Given the description of an element on the screen output the (x, y) to click on. 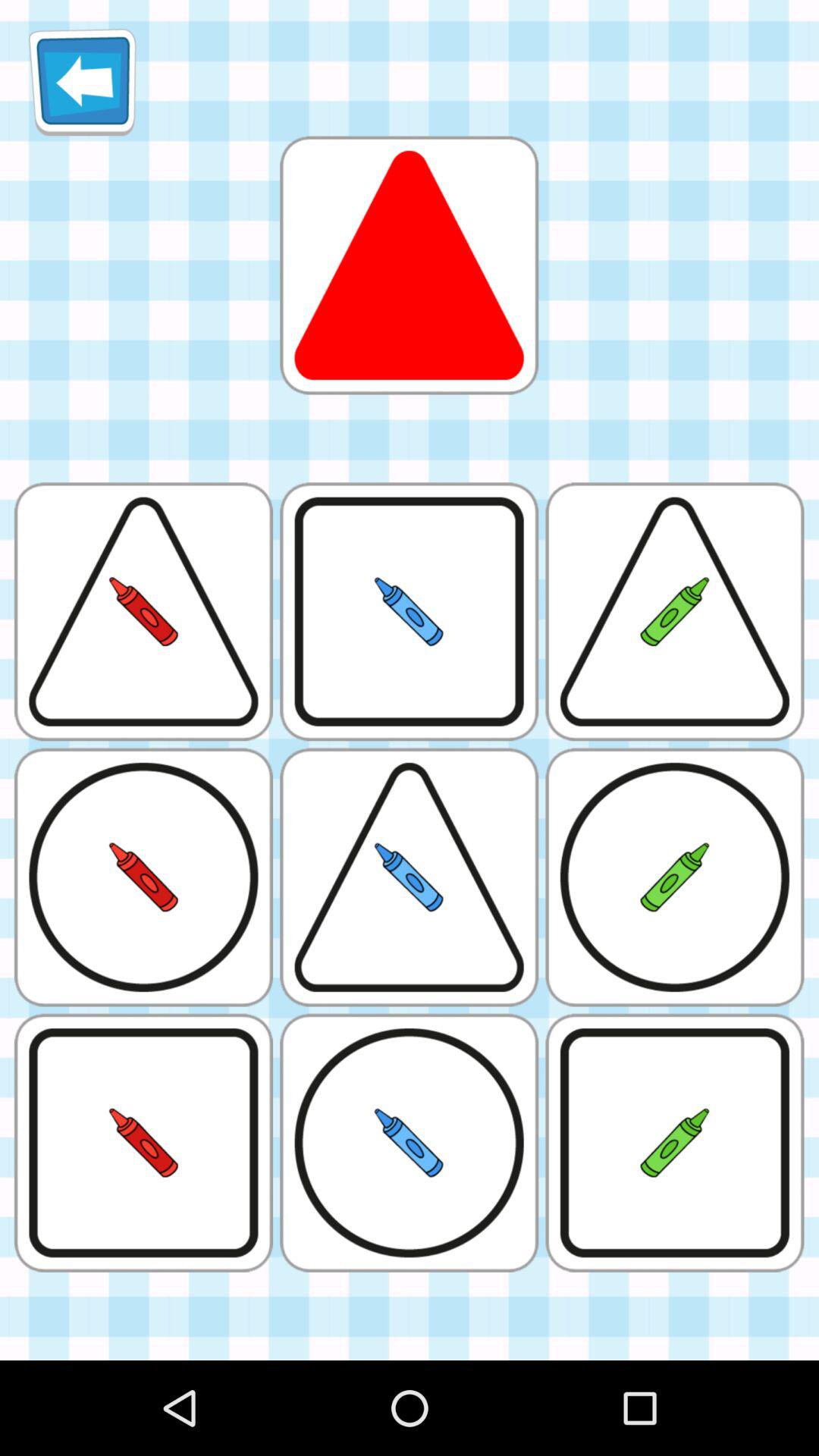
triangle (409, 265)
